Given the description of an element on the screen output the (x, y) to click on. 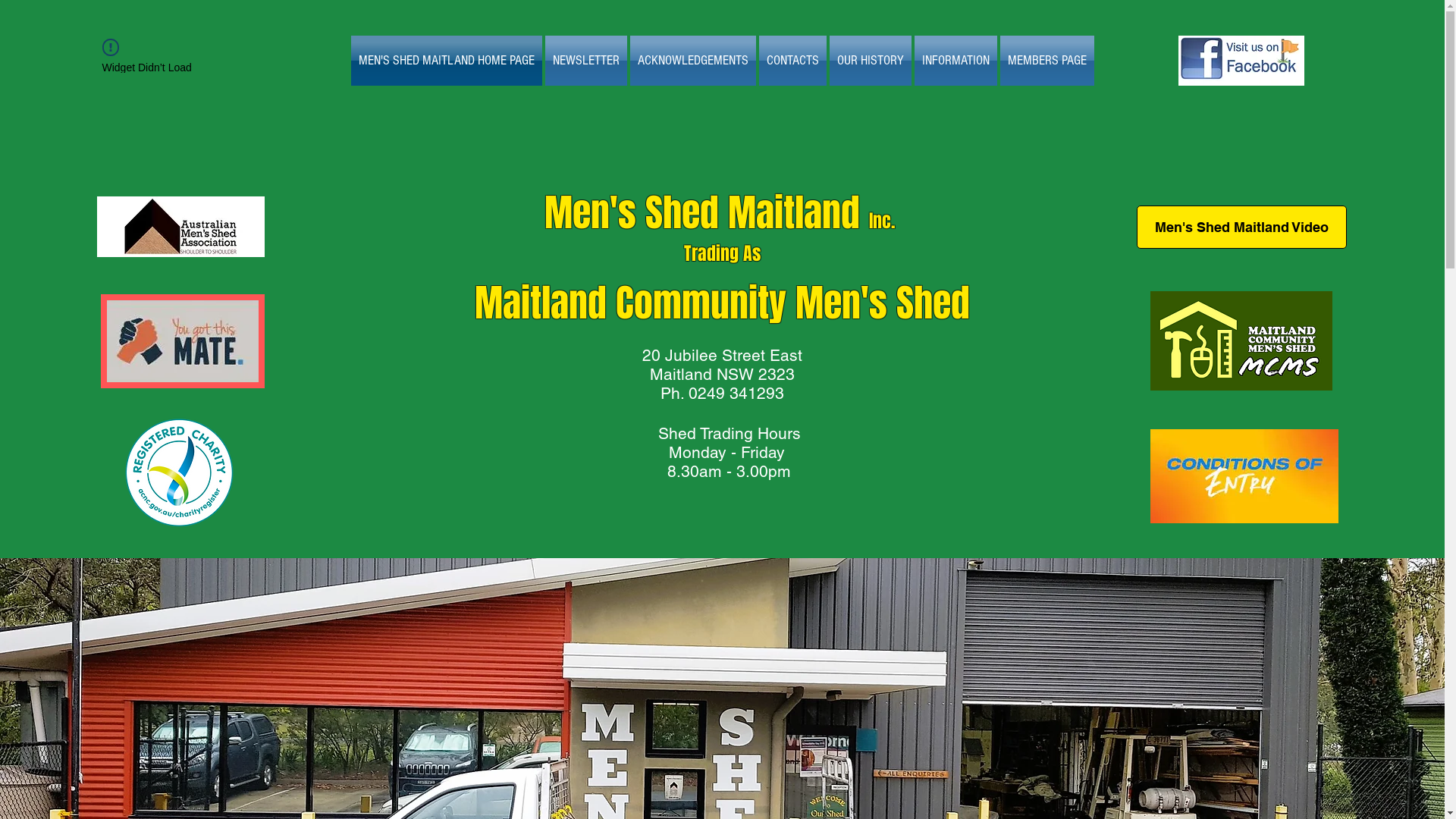
INFORMATION Element type: text (955, 60)
NEWSLETTER Element type: text (584, 60)
MEMBERS PAGE Element type: text (1046, 60)
MEN'S SHED MAITLAND HOME PAGE Element type: text (446, 60)
Men's Shed Maitland Video Element type: text (1240, 226)
CONTACTS Element type: text (791, 60)
OUR HISTORY Element type: text (870, 60)
ACKNOWLEDGEMENTS Element type: text (691, 60)
